Given the description of an element on the screen output the (x, y) to click on. 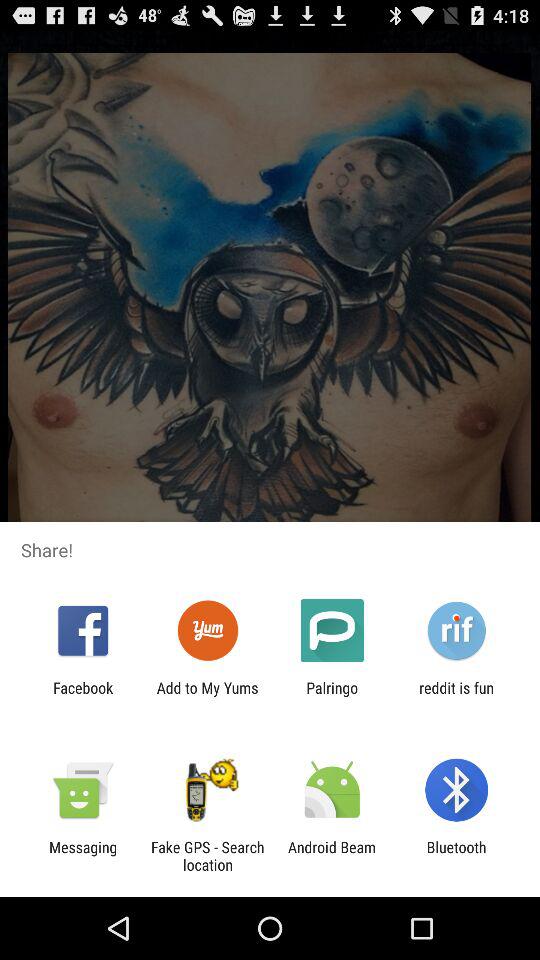
press fake gps search (207, 856)
